Given the description of an element on the screen output the (x, y) to click on. 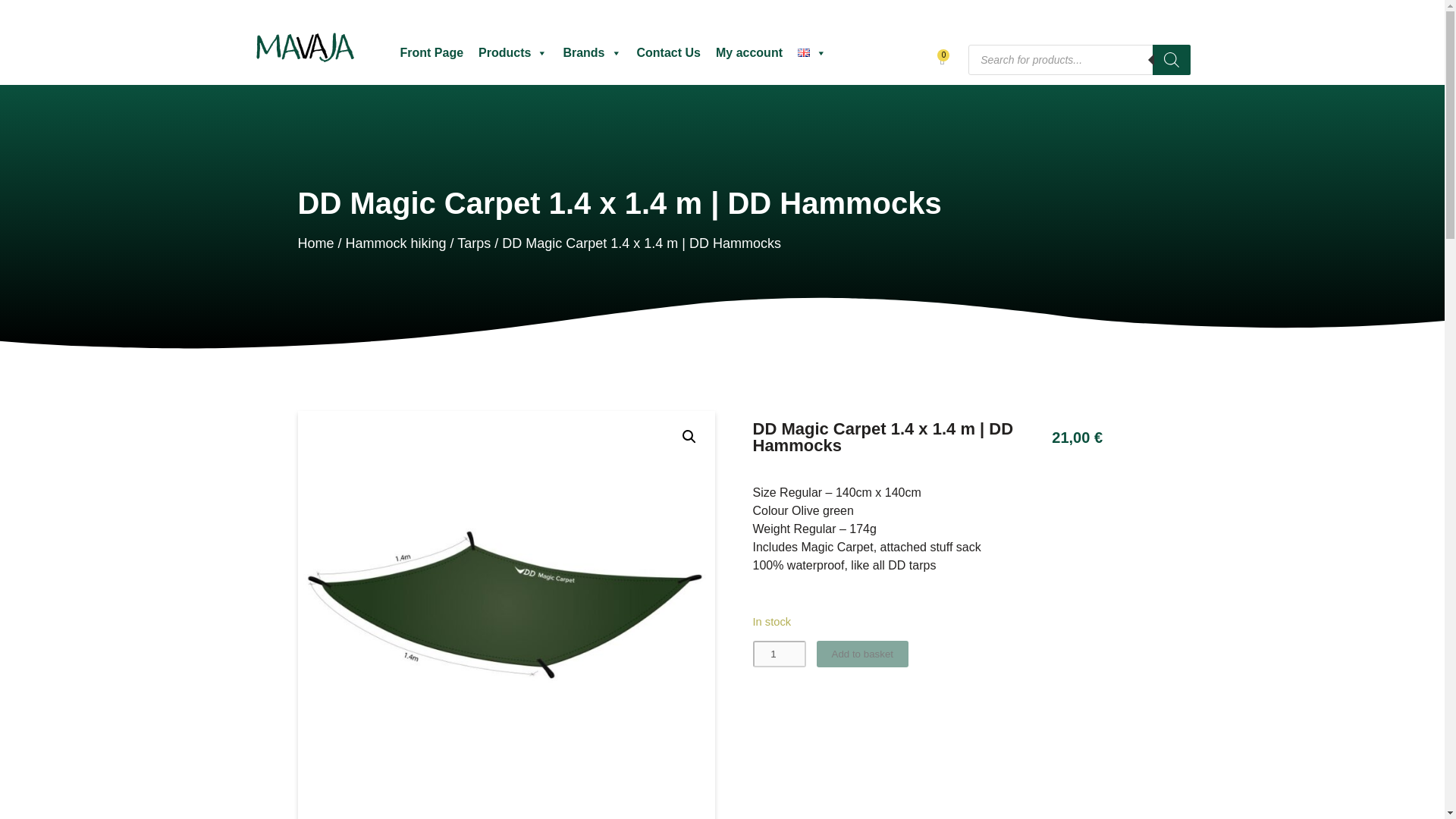
Front Page (430, 52)
1 (778, 653)
Products (512, 52)
